Given the description of an element on the screen output the (x, y) to click on. 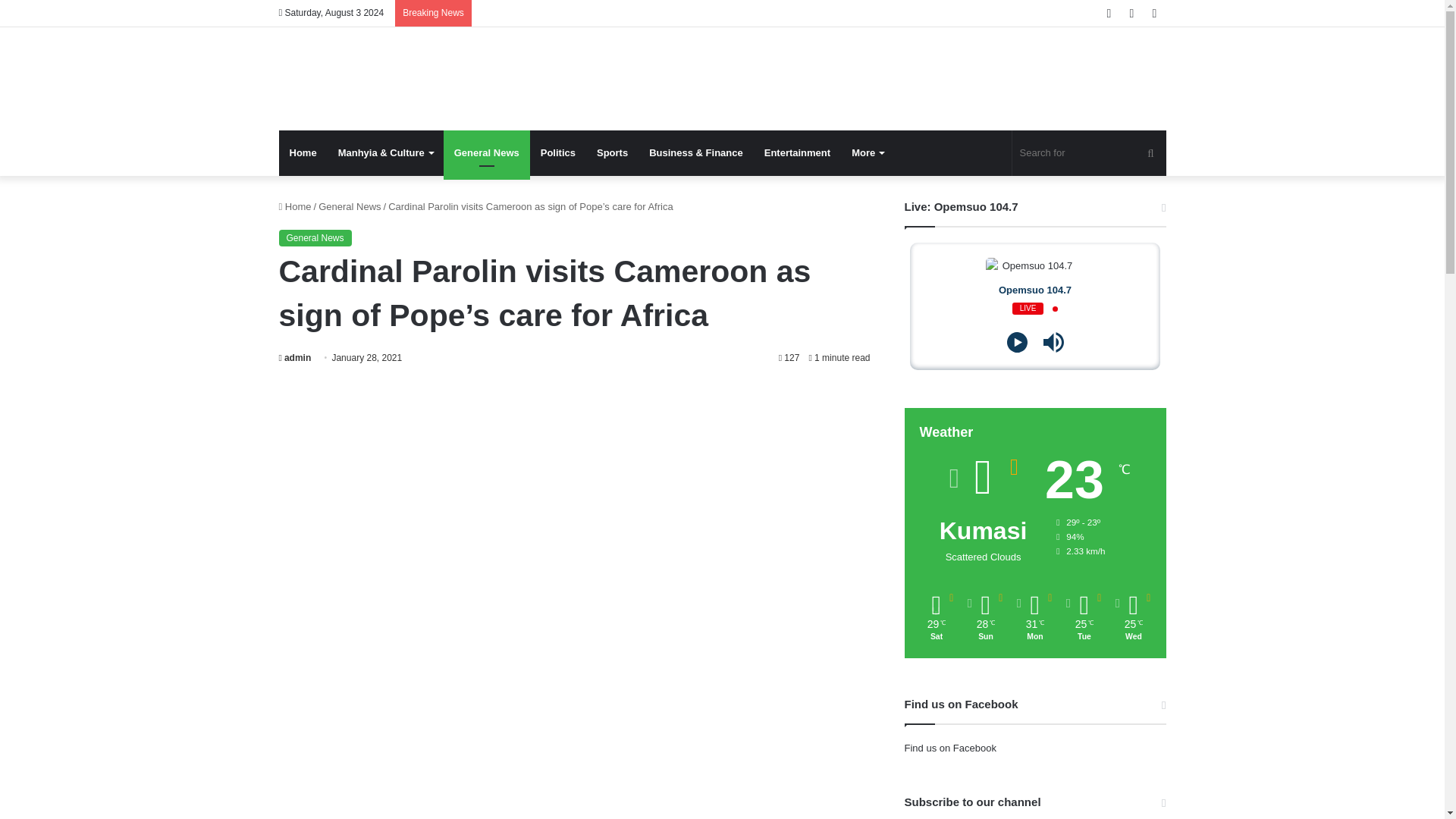
Home (295, 206)
More (867, 153)
Politics (557, 153)
admin (295, 357)
Search for (1088, 153)
Home (303, 153)
General News (349, 206)
admin (295, 357)
General News (486, 153)
Sports (612, 153)
